Given the description of an element on the screen output the (x, y) to click on. 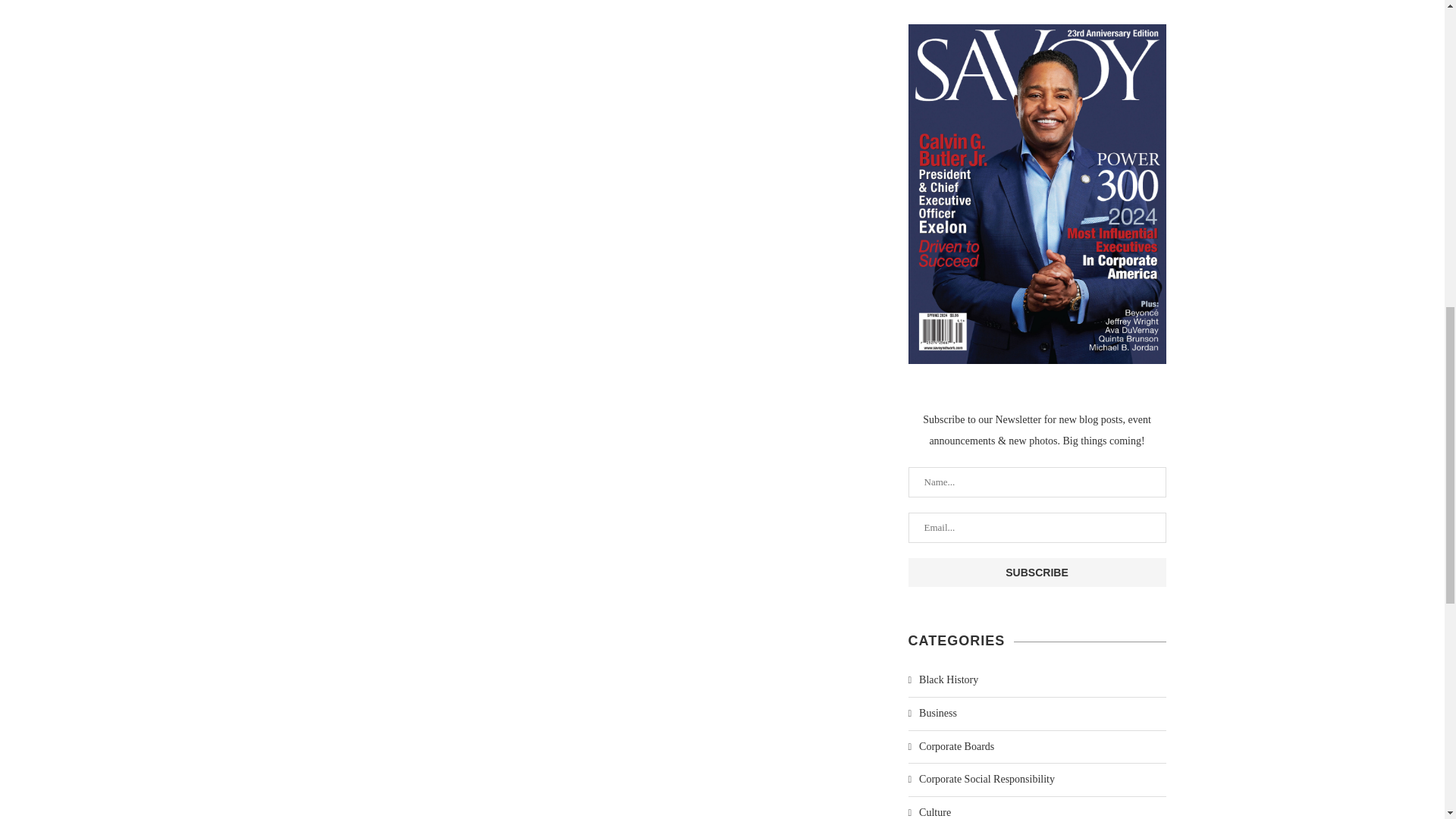
Subscribe (1037, 572)
